Given the description of an element on the screen output the (x, y) to click on. 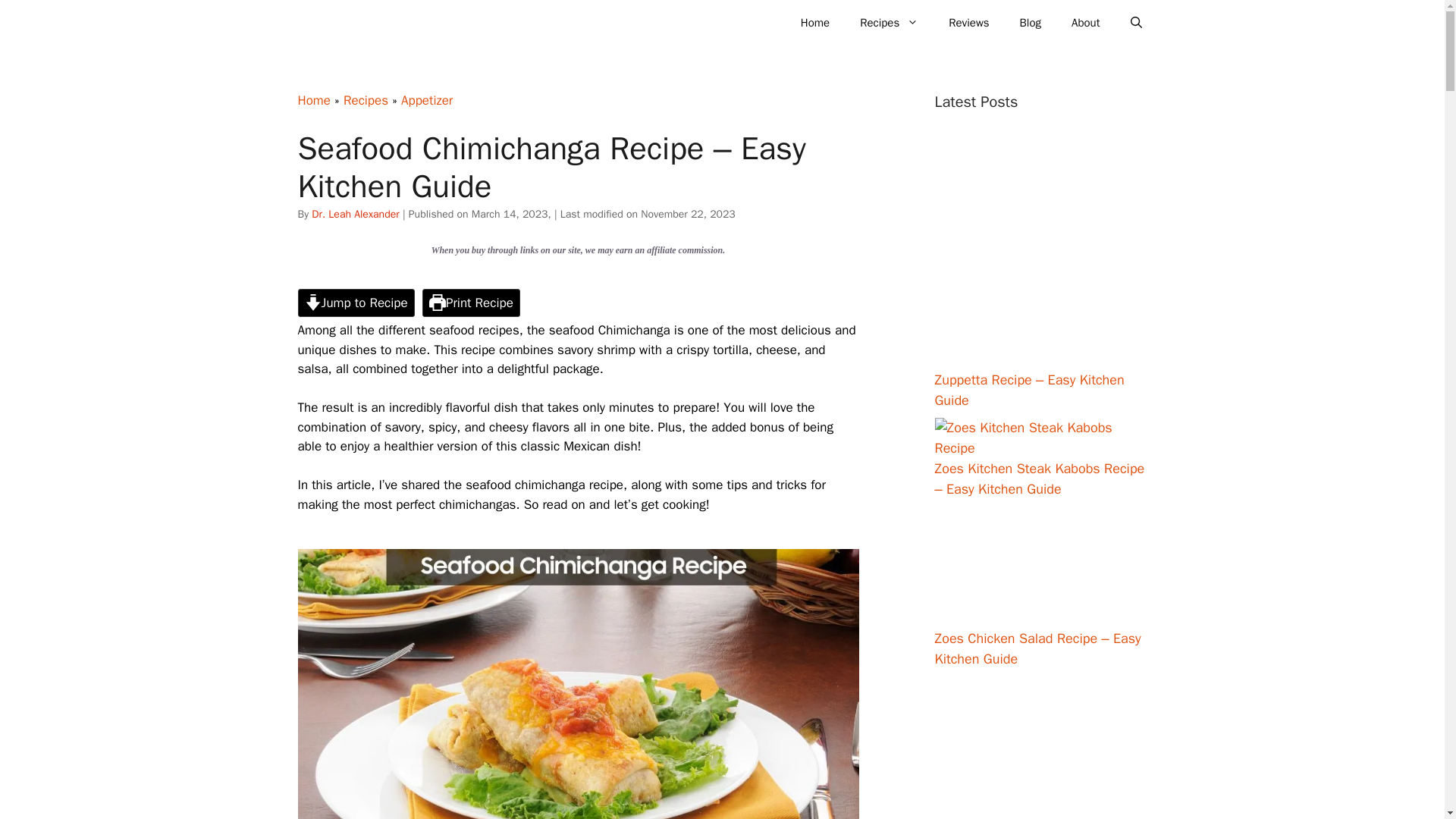
About (1086, 22)
Appetizer (426, 100)
Home (313, 100)
Dr. Leah Alexander (354, 214)
Recipes (888, 22)
Recipes (365, 100)
Blog (1030, 22)
Home (815, 22)
Reviews (968, 22)
Jump to Recipe (355, 303)
